Given the description of an element on the screen output the (x, y) to click on. 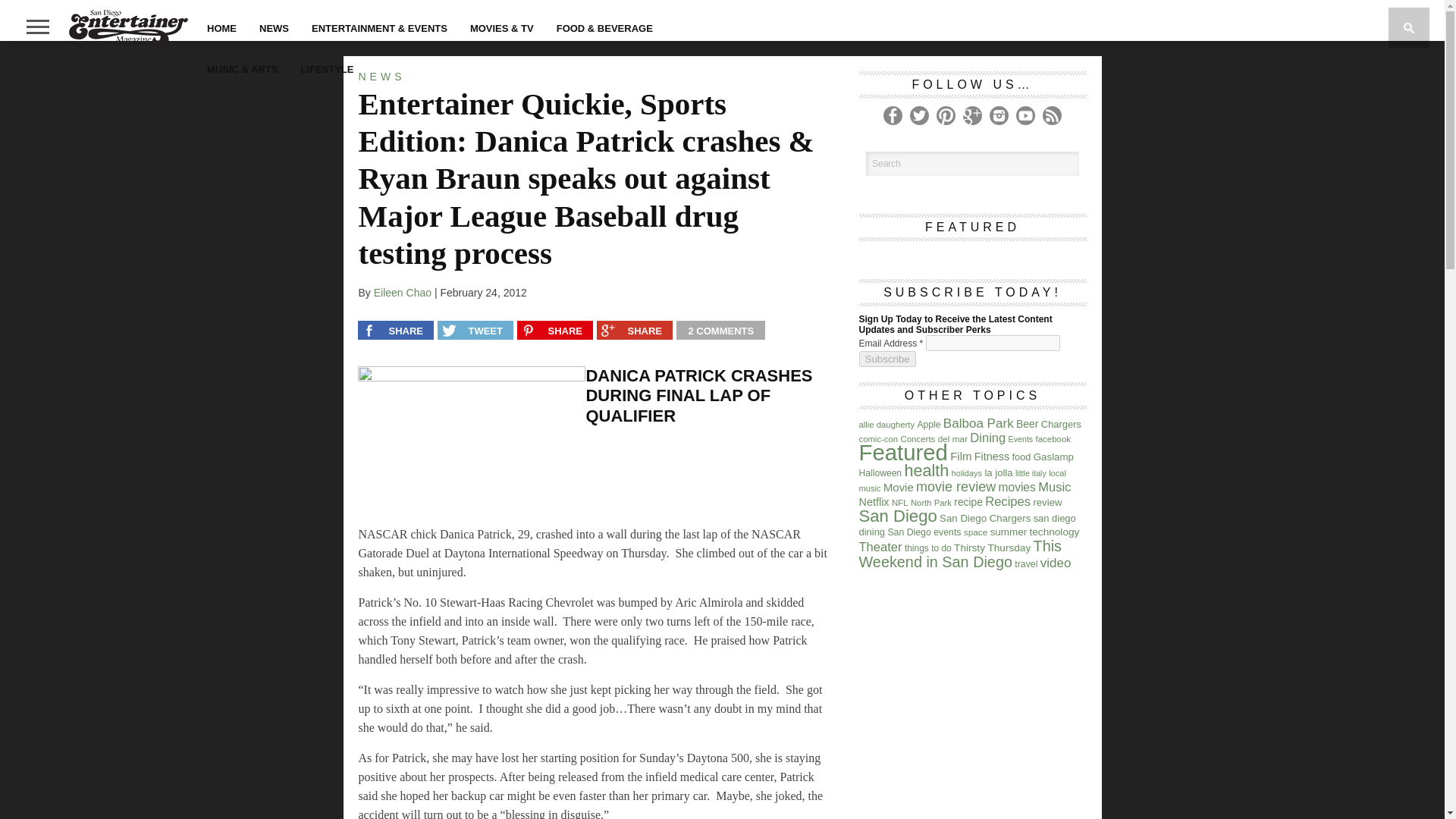
Subscribe (887, 358)
NEWS (273, 27)
Search (973, 163)
Posts by Eileen Chao (402, 292)
LIFESTYLE (326, 68)
Eileen Chao (402, 292)
HOME (221, 27)
IMGP7753 (471, 441)
